Given the description of an element on the screen output the (x, y) to click on. 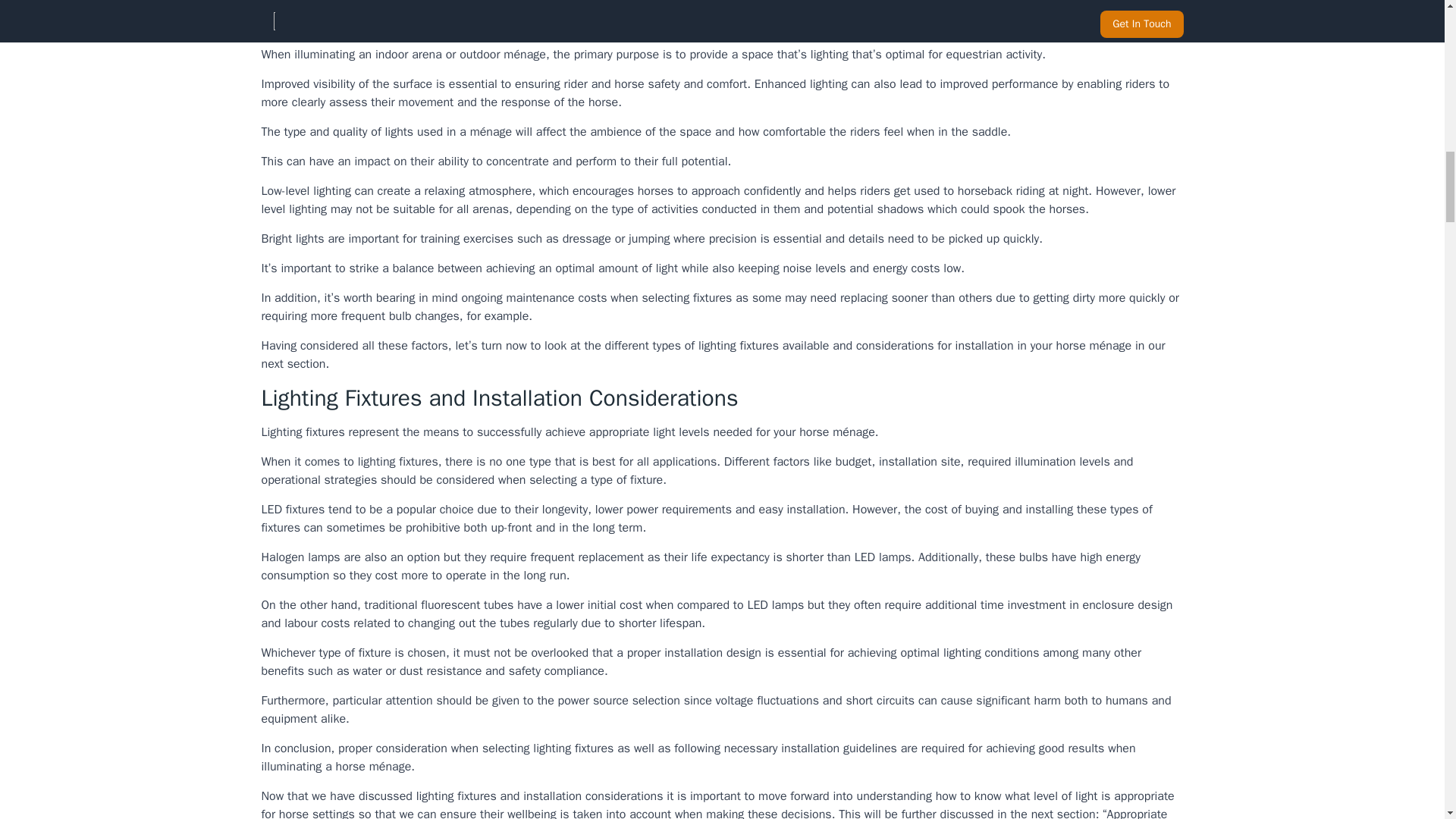
jumping (648, 238)
ongoing maintenance costs (534, 297)
indoor arena (408, 54)
